Given the description of an element on the screen output the (x, y) to click on. 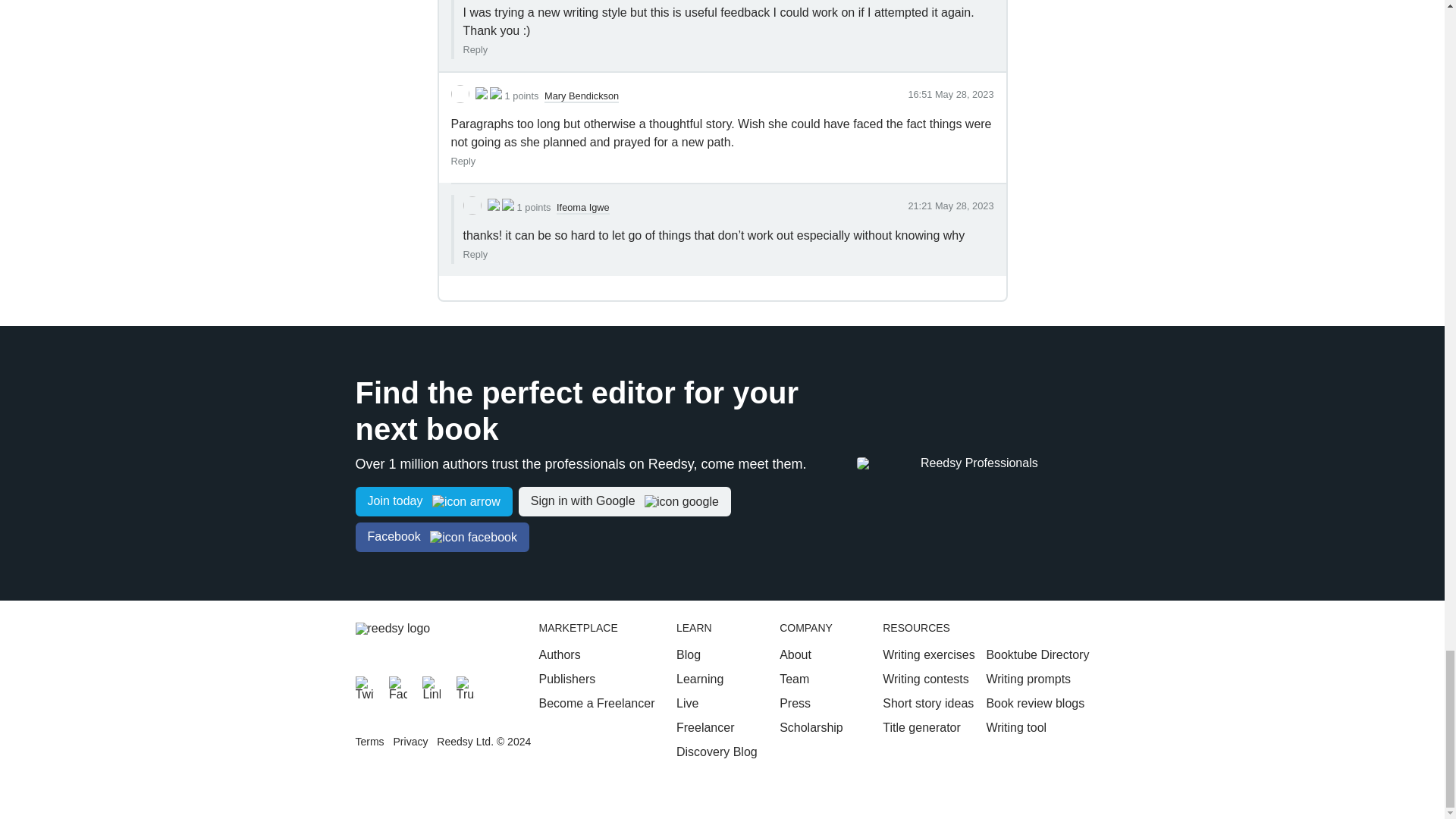
Facebook (397, 685)
Sign in with Google (624, 501)
Sign up (433, 501)
Sign in with Facebook (441, 537)
LinkedIn (431, 685)
Trustpilot (465, 685)
Twitter (363, 685)
